Given the description of an element on the screen output the (x, y) to click on. 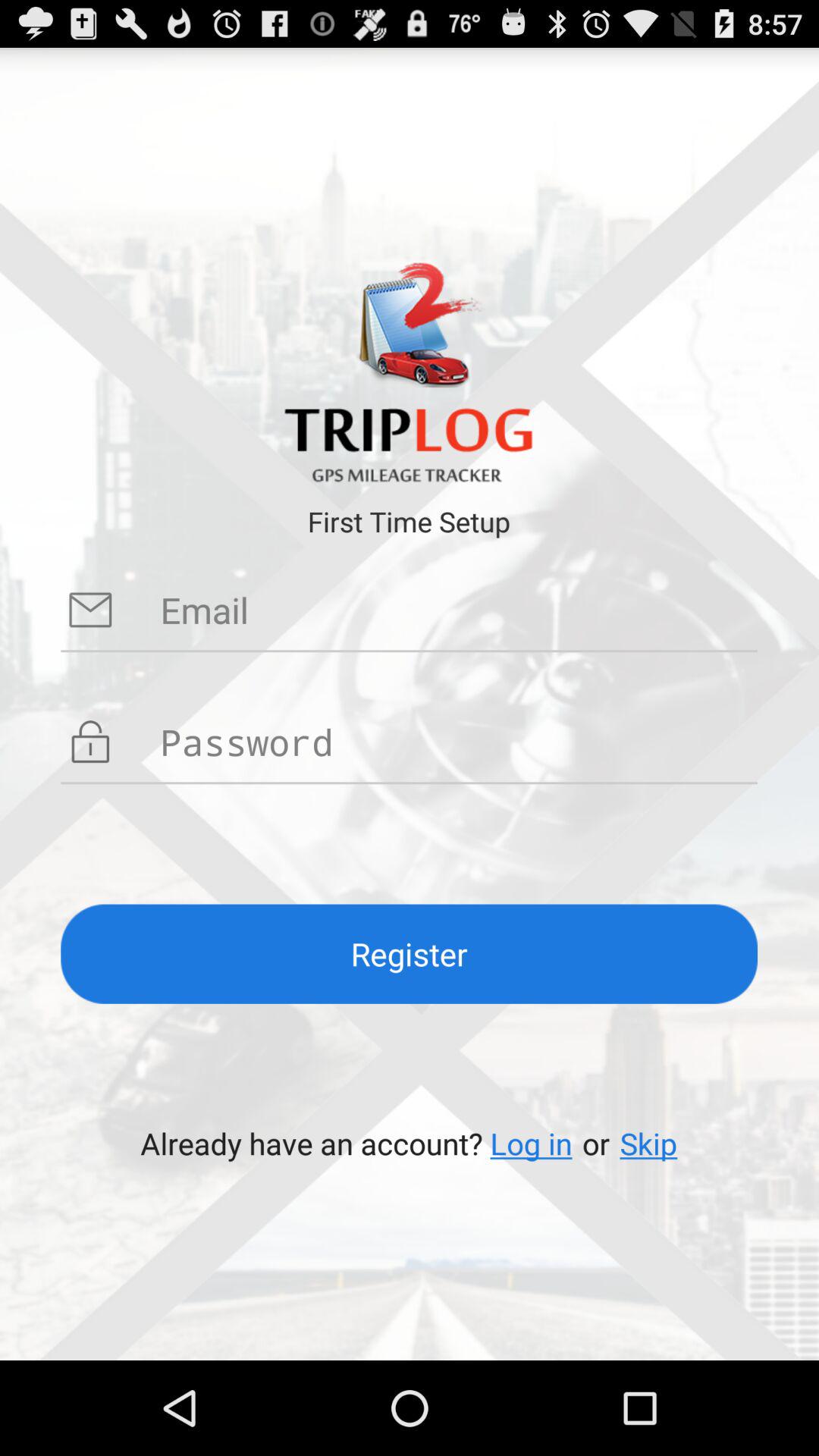
turn on item below register item (648, 1143)
